Given the description of an element on the screen output the (x, y) to click on. 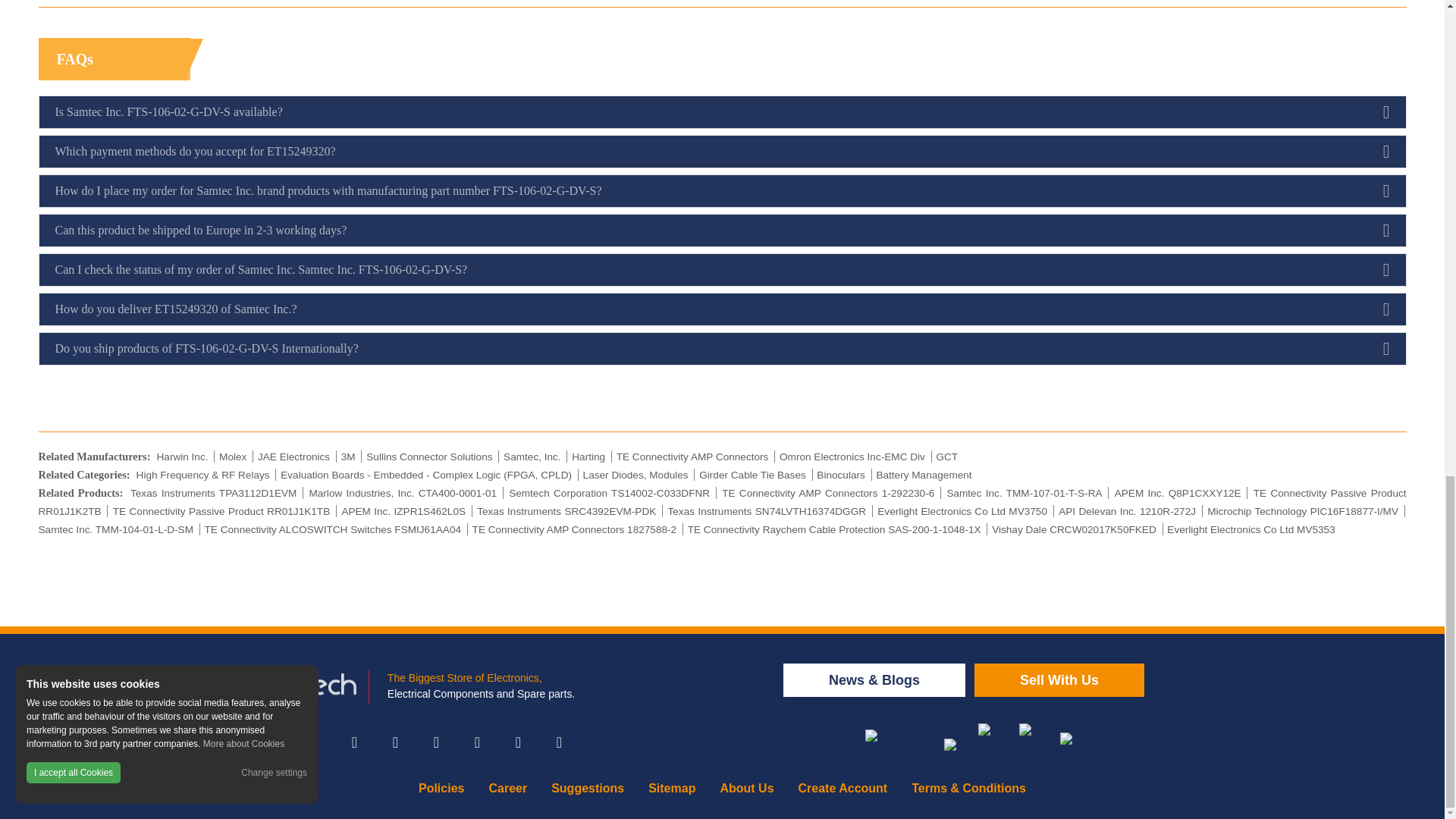
Suggestions (587, 788)
Policies (441, 788)
Pinterest (518, 742)
About Us (746, 788)
Create Account (842, 788)
Career (507, 788)
Youtube (559, 742)
Sitemap (671, 788)
Instagram (435, 742)
Twitter (394, 742)
